Given the description of an element on the screen output the (x, y) to click on. 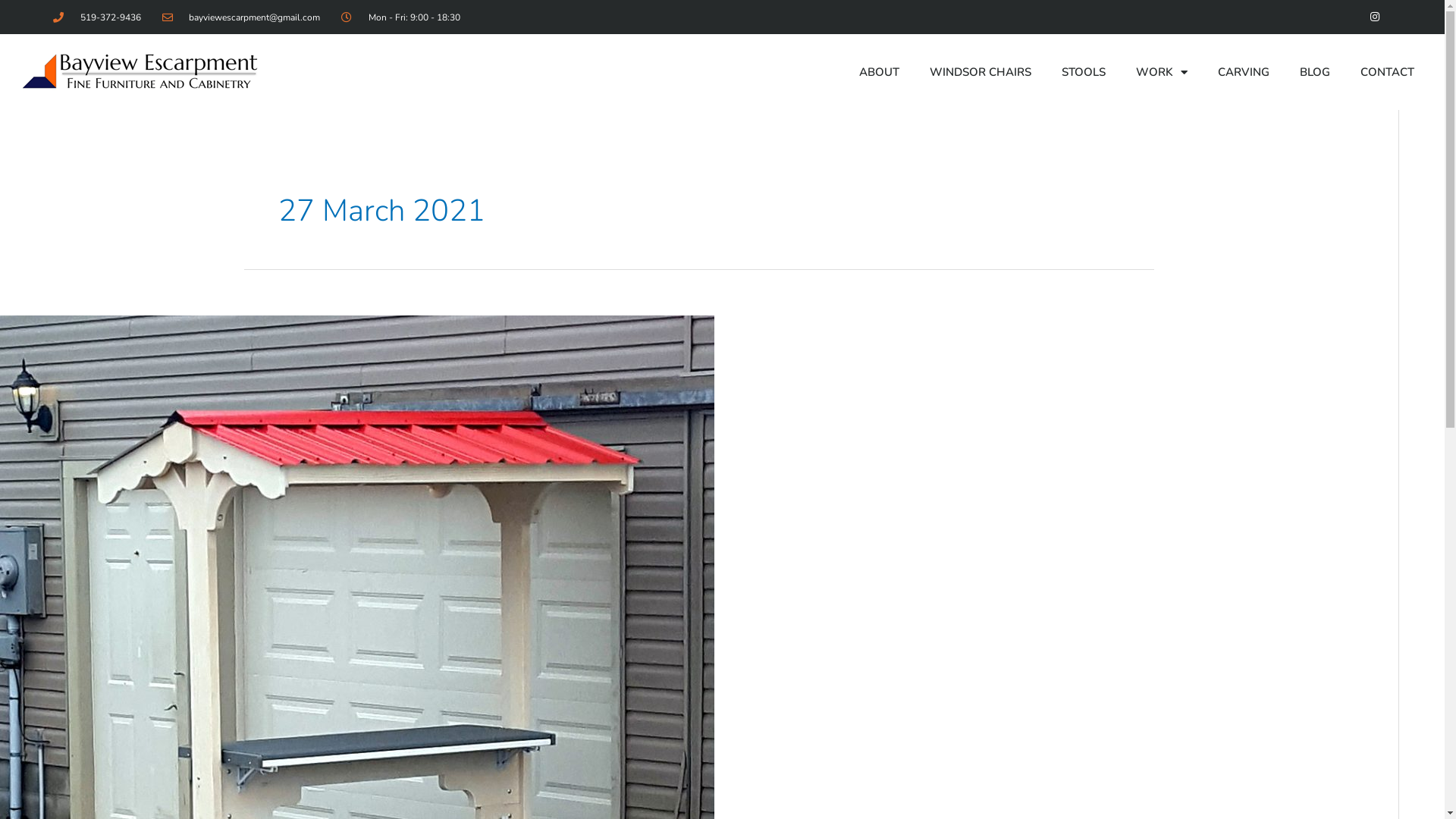
STOOLS Element type: text (1083, 71)
CONTACT Element type: text (1387, 71)
ABOUT Element type: text (879, 71)
WORK Element type: text (1161, 71)
CARVING Element type: text (1243, 71)
BLOG Element type: text (1314, 71)
WINDSOR CHAIRS Element type: text (980, 71)
bayviewescarpment@gmail.com Element type: text (241, 16)
